Given the description of an element on the screen output the (x, y) to click on. 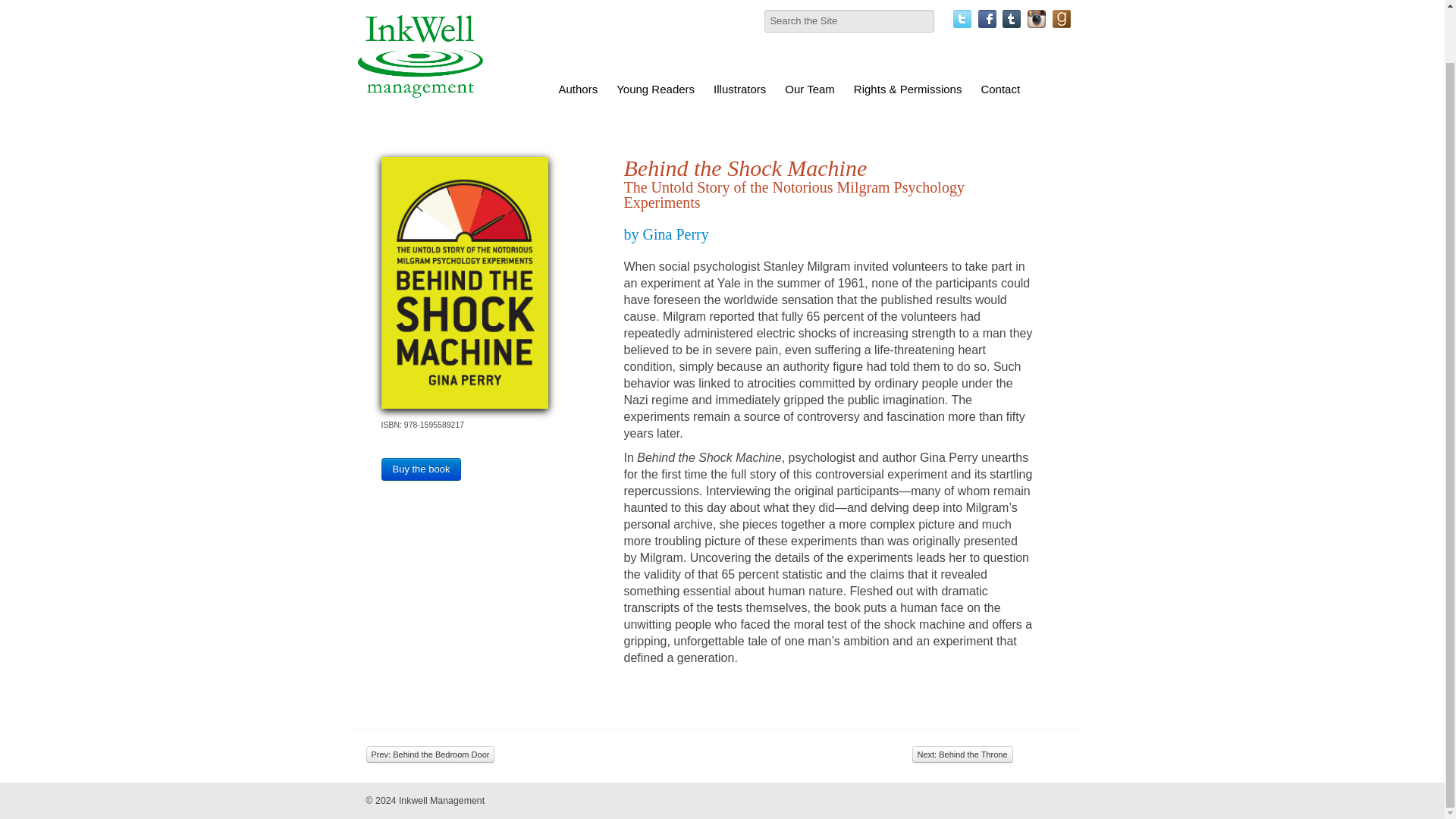
by Gina Perry (665, 234)
Illustrators (740, 33)
Buy the book (420, 468)
Young Readers (655, 33)
Next: Behind the Throne (961, 754)
Inkwell Management (441, 800)
Prev: Behind the Bedroom Door (430, 754)
Contact (999, 33)
Authors (578, 33)
Our Team (809, 33)
